Given the description of an element on the screen output the (x, y) to click on. 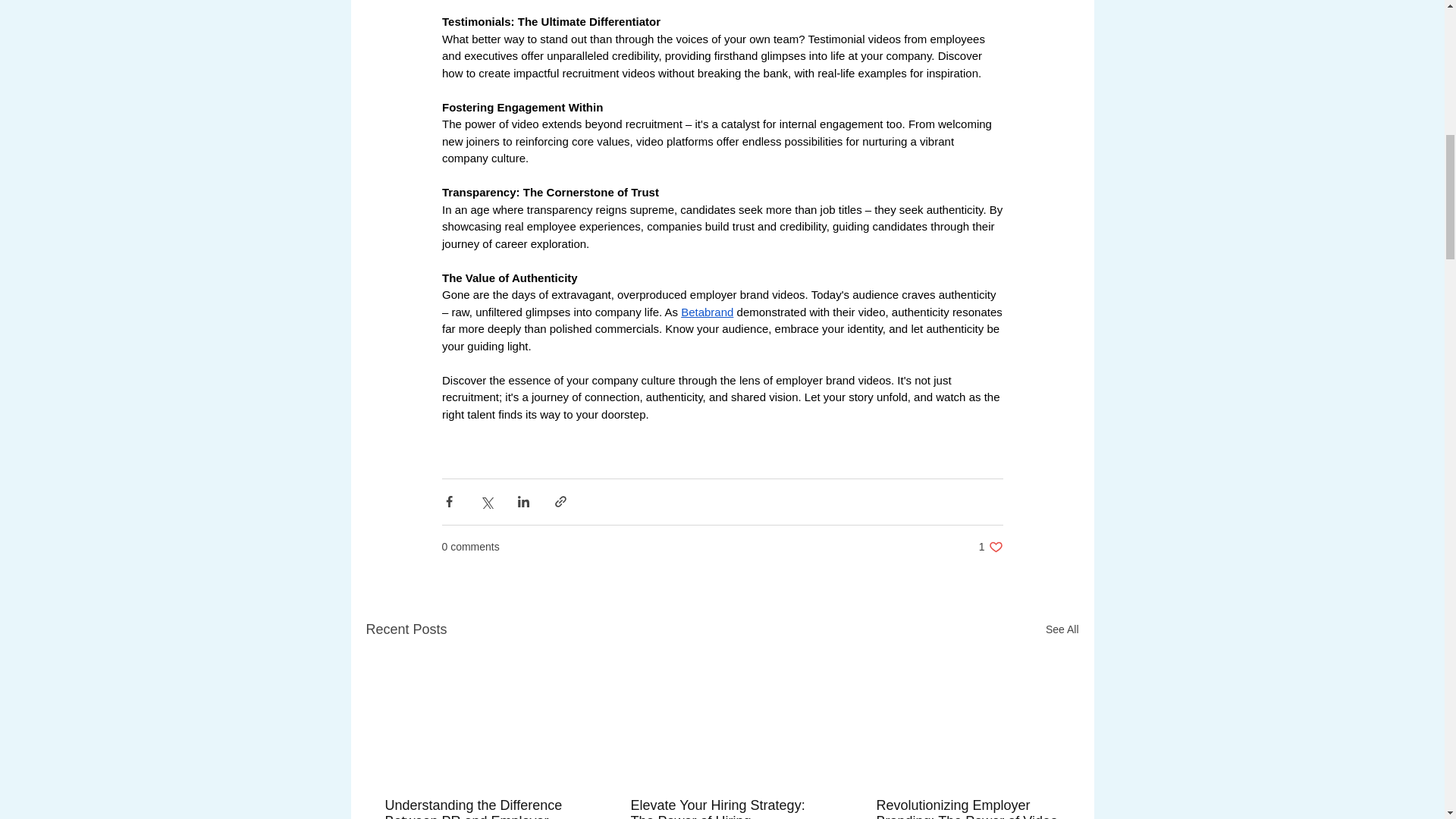
Revolutionizing Employer Branding: The Power of Video (990, 546)
See All (967, 808)
Betabrand (1061, 629)
